Given the description of an element on the screen output the (x, y) to click on. 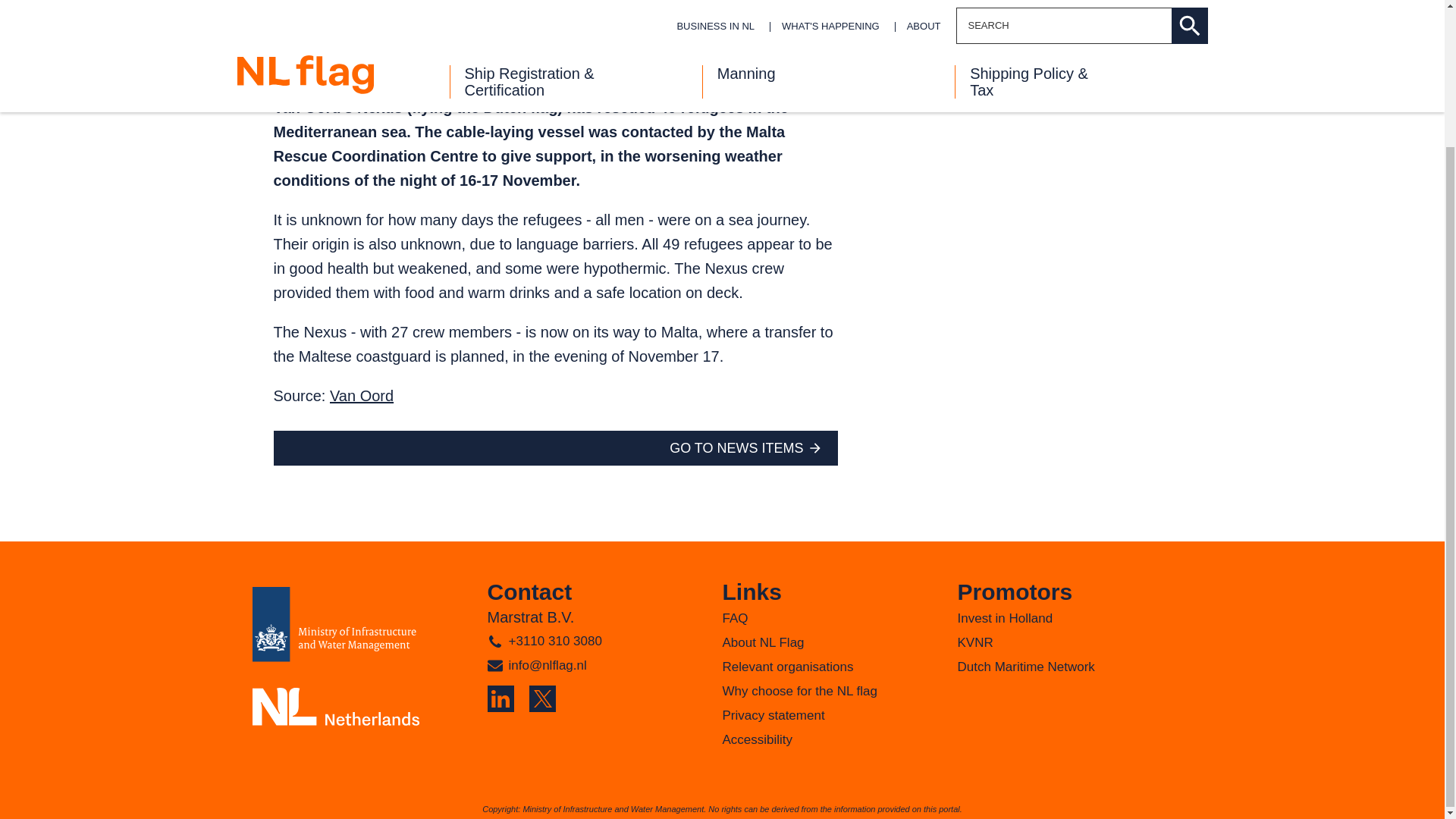
KVNR (974, 642)
Privacy statement (773, 715)
Go to Twitter (542, 698)
Dutch Maritime Network (1025, 667)
Accessibility (757, 739)
Why choose for the NL flag (799, 690)
GO TO NEWS ITEMS (736, 447)
Van Oord (361, 395)
